Given the description of an element on the screen output the (x, y) to click on. 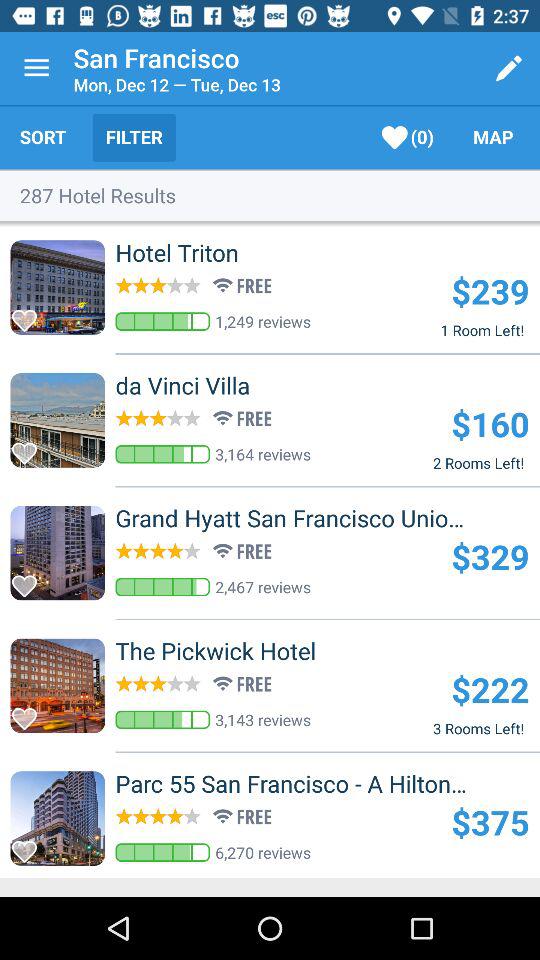
favorite this hotel (30, 580)
